Given the description of an element on the screen output the (x, y) to click on. 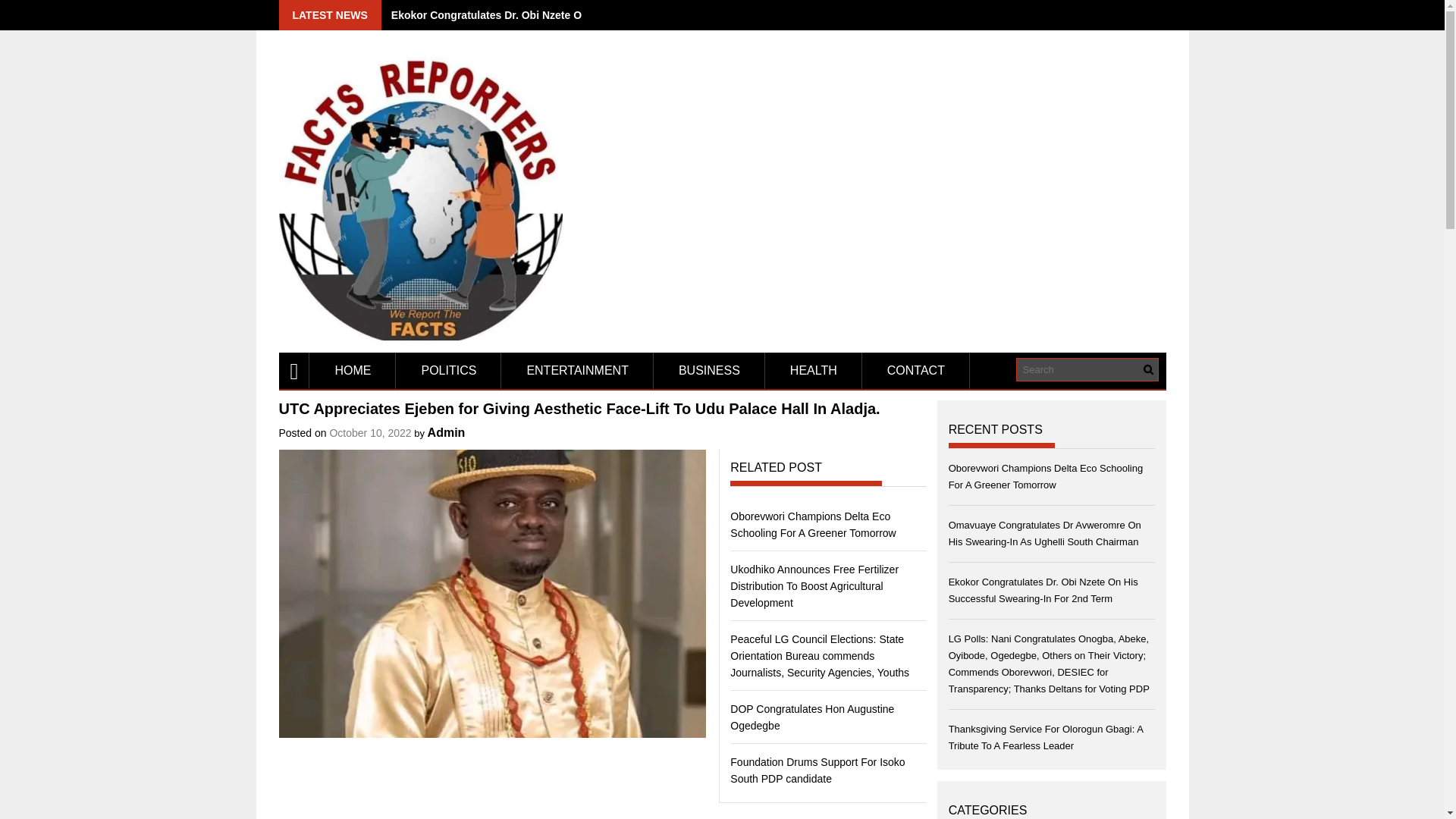
ENTERTAINMENT (576, 370)
HOME (352, 370)
BUSINESS (709, 370)
Foundation Drums Support For Isoko South PDP candidate (817, 769)
October 10, 2022 (369, 432)
Admin (446, 431)
Foundation Drums Support For Isoko South PDP candidate (817, 769)
DOP Congratulates Hon Augustine Ogedegbe (811, 717)
CONTACT (915, 370)
